Given the description of an element on the screen output the (x, y) to click on. 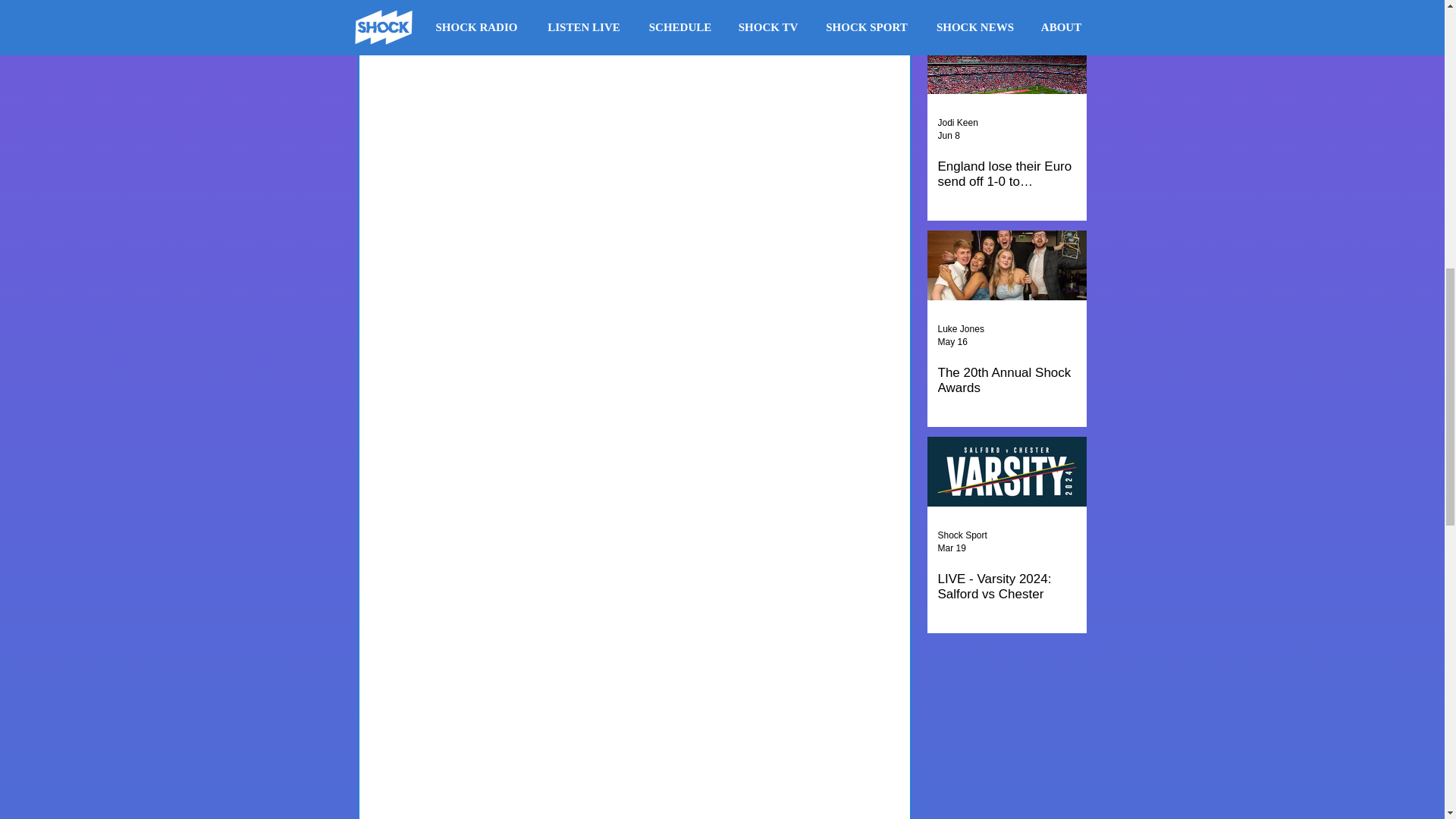
Jodi Keen (956, 122)
Shock Sport (962, 535)
Luke Jones (960, 329)
England lose their Euro send off 1-0 to Unqualified Iceland (1006, 173)
Luke Jones (960, 328)
The 20th Annual Shock Awards (1006, 380)
Jodi Keen (956, 123)
Shock Sport (962, 534)
Mar 19 (951, 547)
Jun 8 (948, 135)
May 16 (951, 341)
LIVE - Varsity 2024: Salford vs Chester (1006, 586)
